Given the description of an element on the screen output the (x, y) to click on. 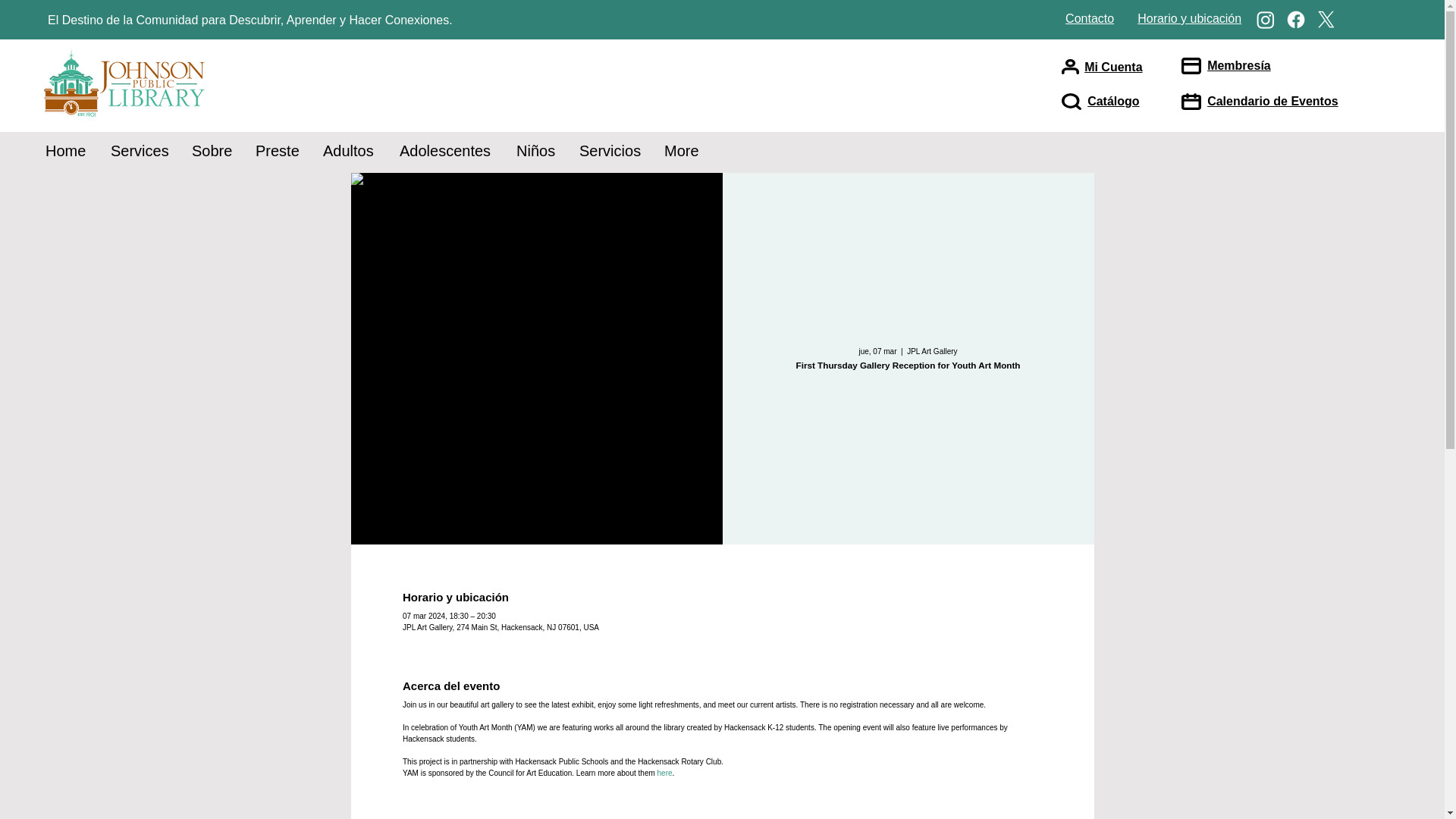
Home (66, 150)
Services (139, 150)
Mi Cuenta (1112, 66)
Calendario de Eventos (1272, 101)
Adultos (349, 150)
Contacto (1089, 18)
